Given the description of an element on the screen output the (x, y) to click on. 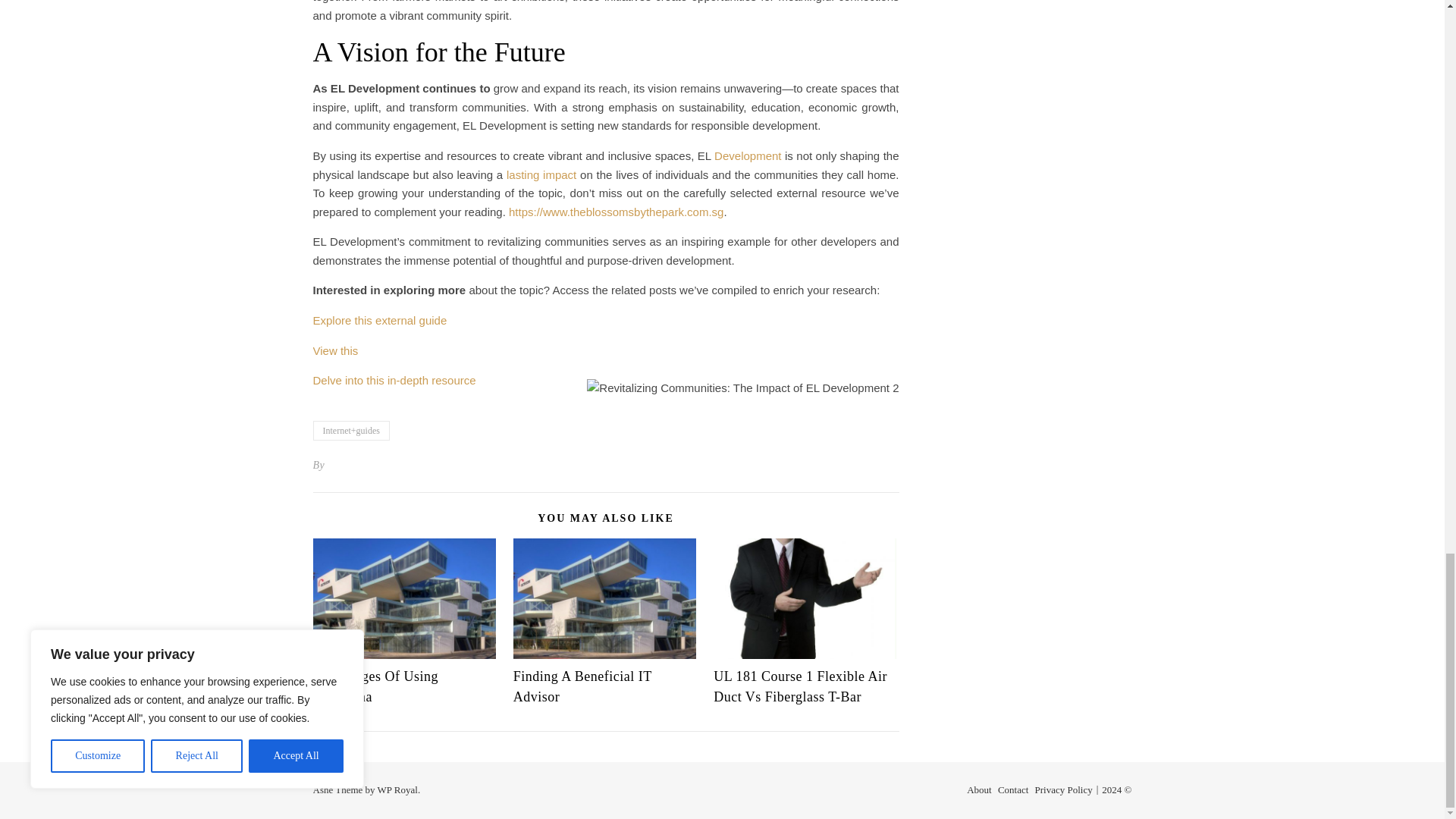
lasting impact (541, 174)
Finding A Beneficial IT Advisor (582, 686)
UL 181 Course 1 Flexible Air Duct Vs Fiberglass T-Bar (799, 686)
View this (335, 350)
Delve into this in-depth resource (394, 379)
Development (747, 155)
Advantages Of Using Marijuana (375, 686)
Explore this external guide (379, 319)
